Given the description of an element on the screen output the (x, y) to click on. 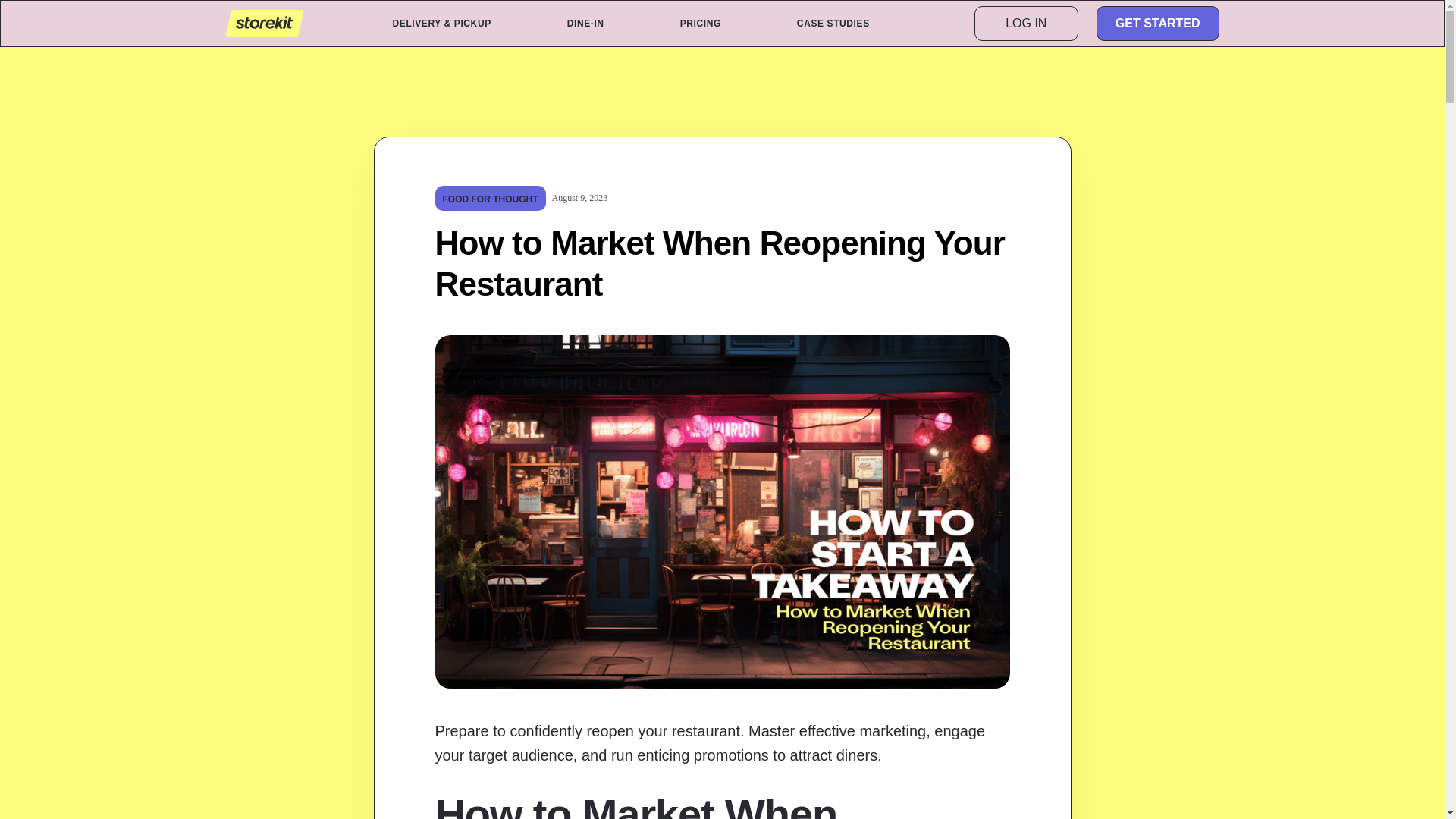
CASE STUDIES (832, 23)
LOG IN (1026, 22)
DINE-IN (585, 23)
PRICING (700, 23)
GET STARTED (1158, 22)
